Given the description of an element on the screen output the (x, y) to click on. 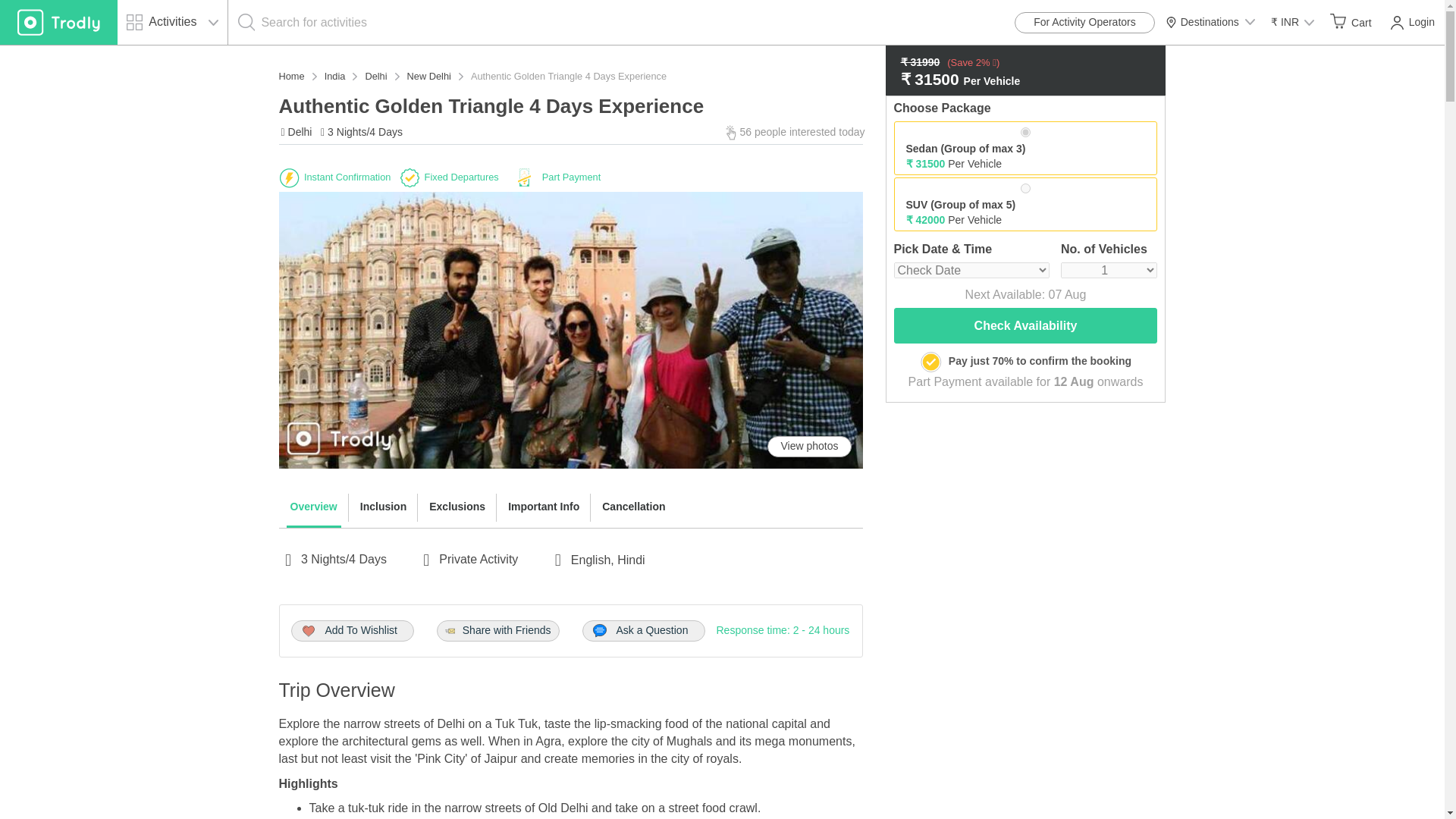
6506 (1025, 188)
New Delhi (429, 76)
Exclusions (457, 507)
For Activity Operators (1084, 22)
View photos (808, 446)
Home (291, 76)
6505 (1025, 132)
Tours places to see (58, 22)
Inclusion (383, 507)
Cart (1349, 21)
